Given the description of an element on the screen output the (x, y) to click on. 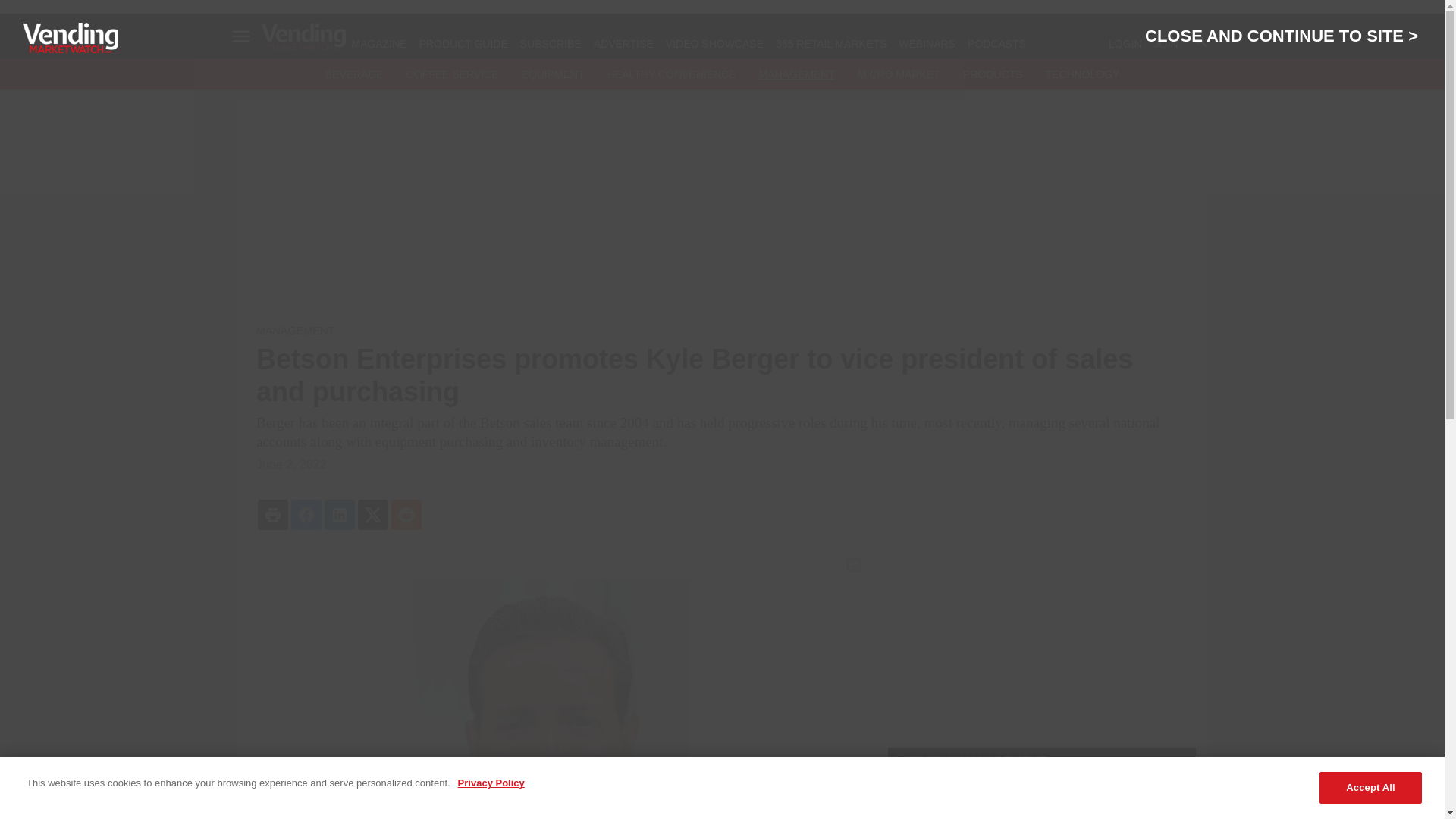
EQUIPMENT (553, 73)
TECHNOLOGY (1082, 73)
PRODUCT GUIDE (463, 43)
365 RETAIL MARKETS (831, 43)
PRODUCTS (992, 73)
LOGIN (1124, 43)
WEBINARS (926, 43)
MICRO MARKET (898, 73)
MAGAZINE (379, 43)
3rd party ad content (1042, 641)
HEALTHY CONVENIENCE (671, 73)
BEVERAGE (354, 73)
COFFEE SERVICE (452, 73)
